Given the description of an element on the screen output the (x, y) to click on. 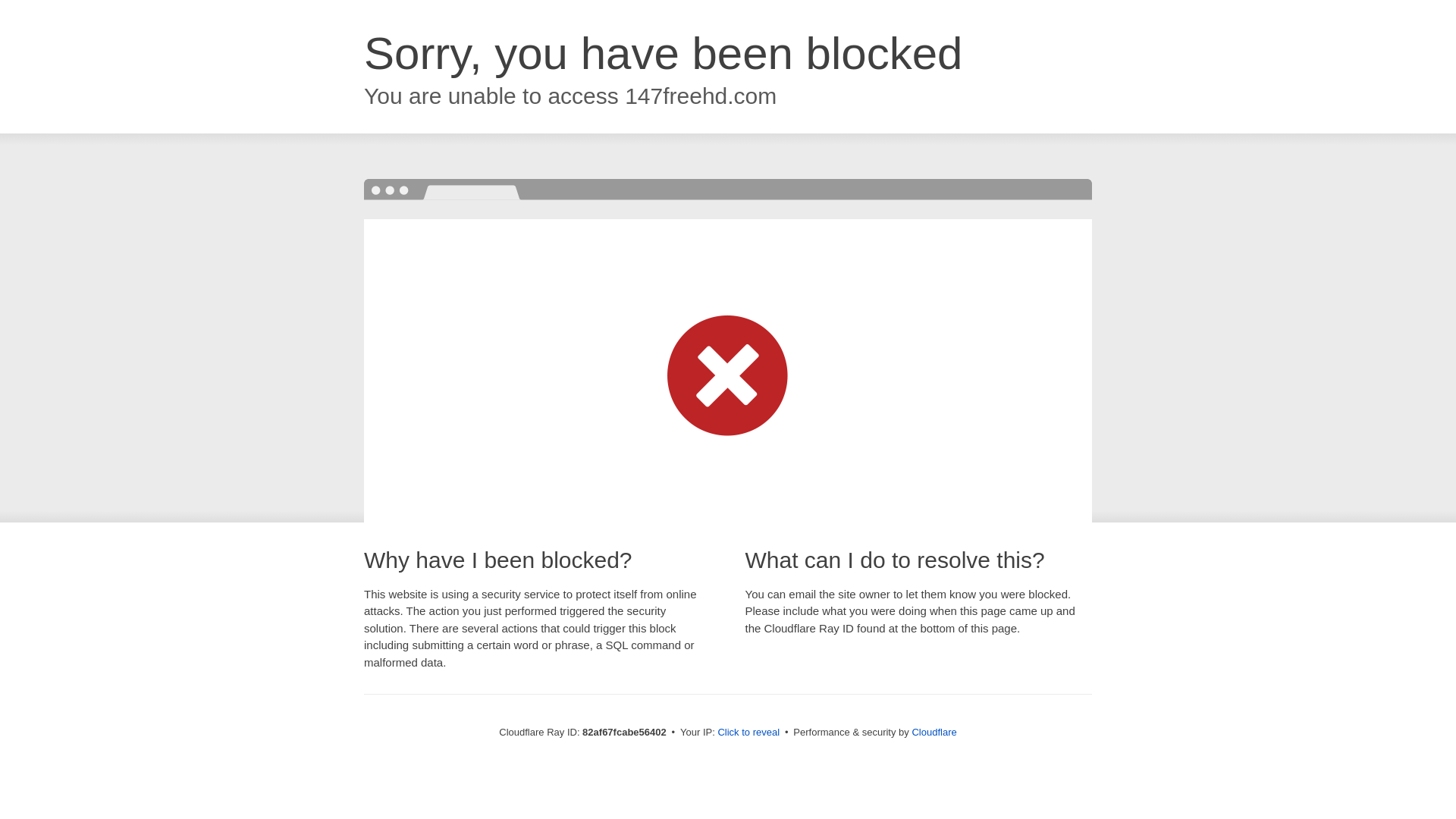
Click to reveal Element type: text (748, 732)
Cloudflare Element type: text (933, 731)
